Given the description of an element on the screen output the (x, y) to click on. 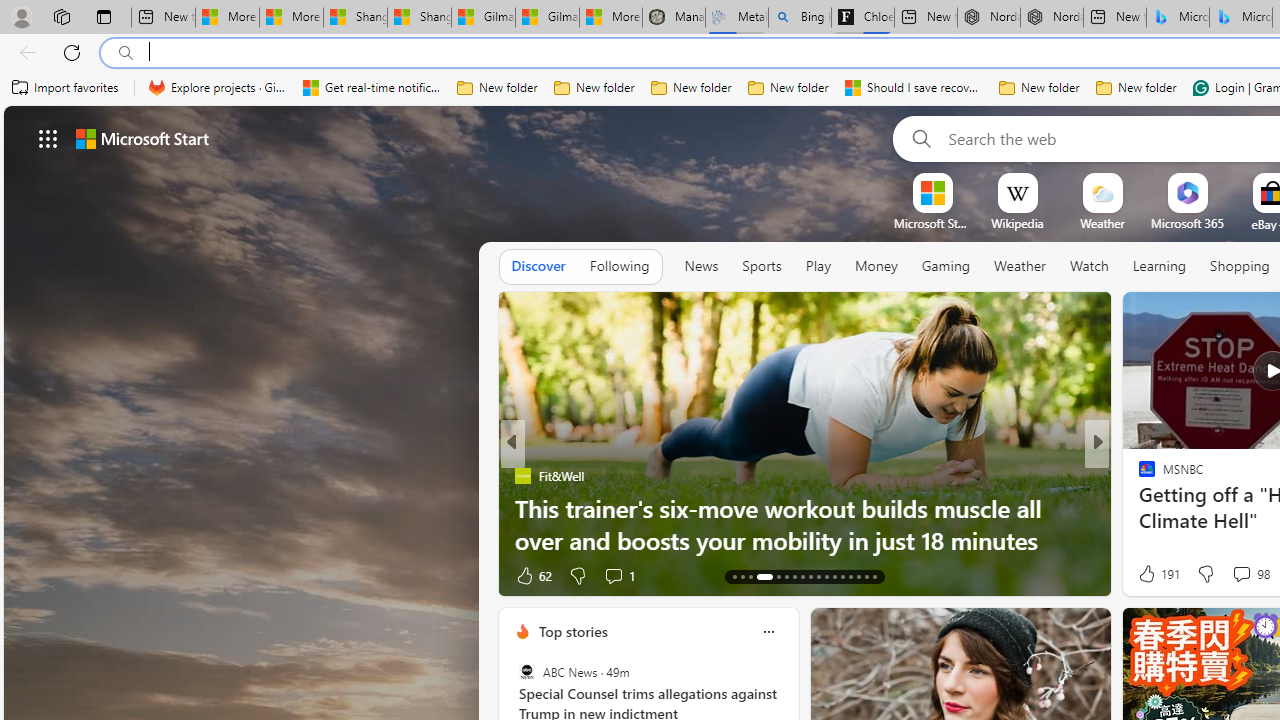
View comments 5 Comment (625, 574)
191 Like (1157, 574)
27 Like (1149, 574)
105 Like (535, 574)
